Given the description of an element on the screen output the (x, y) to click on. 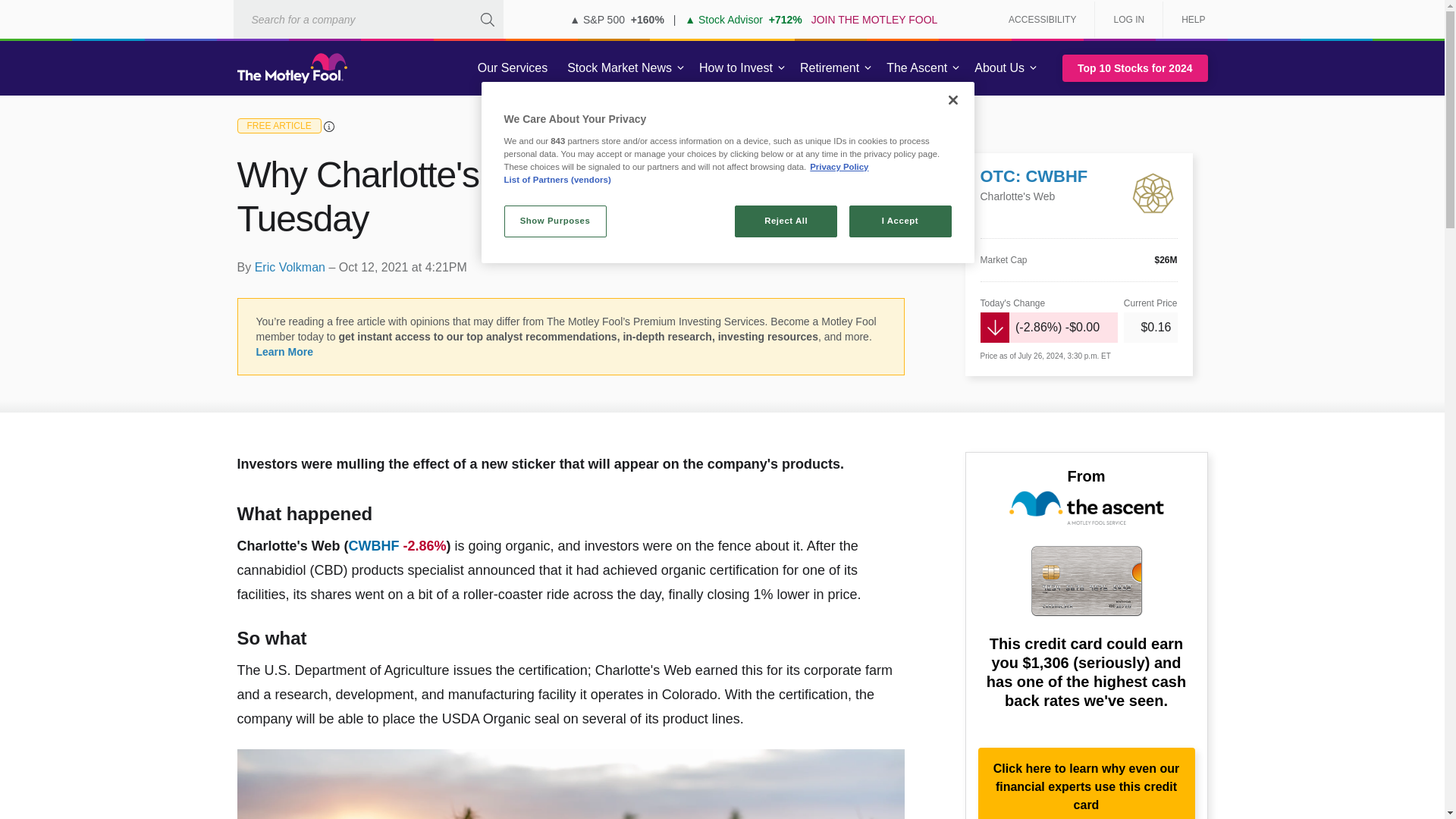
ACCESSIBILITY (1042, 19)
Stock Market News (619, 67)
HELP (1187, 19)
Our Services (512, 67)
How to Invest (735, 67)
LOG IN (1128, 19)
